Given the description of an element on the screen output the (x, y) to click on. 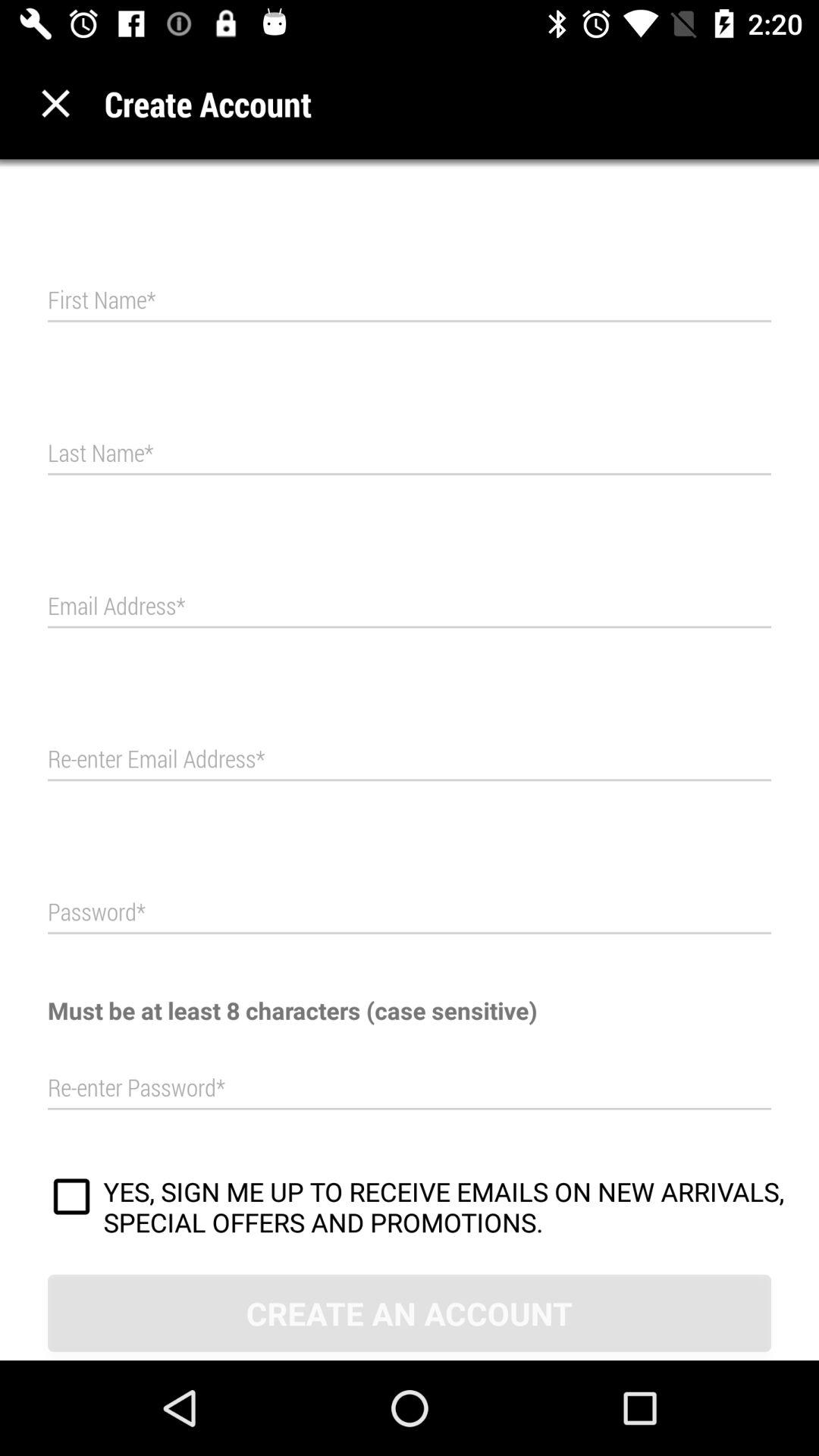
open icon to the left of the create account (55, 103)
